Given the description of an element on the screen output the (x, y) to click on. 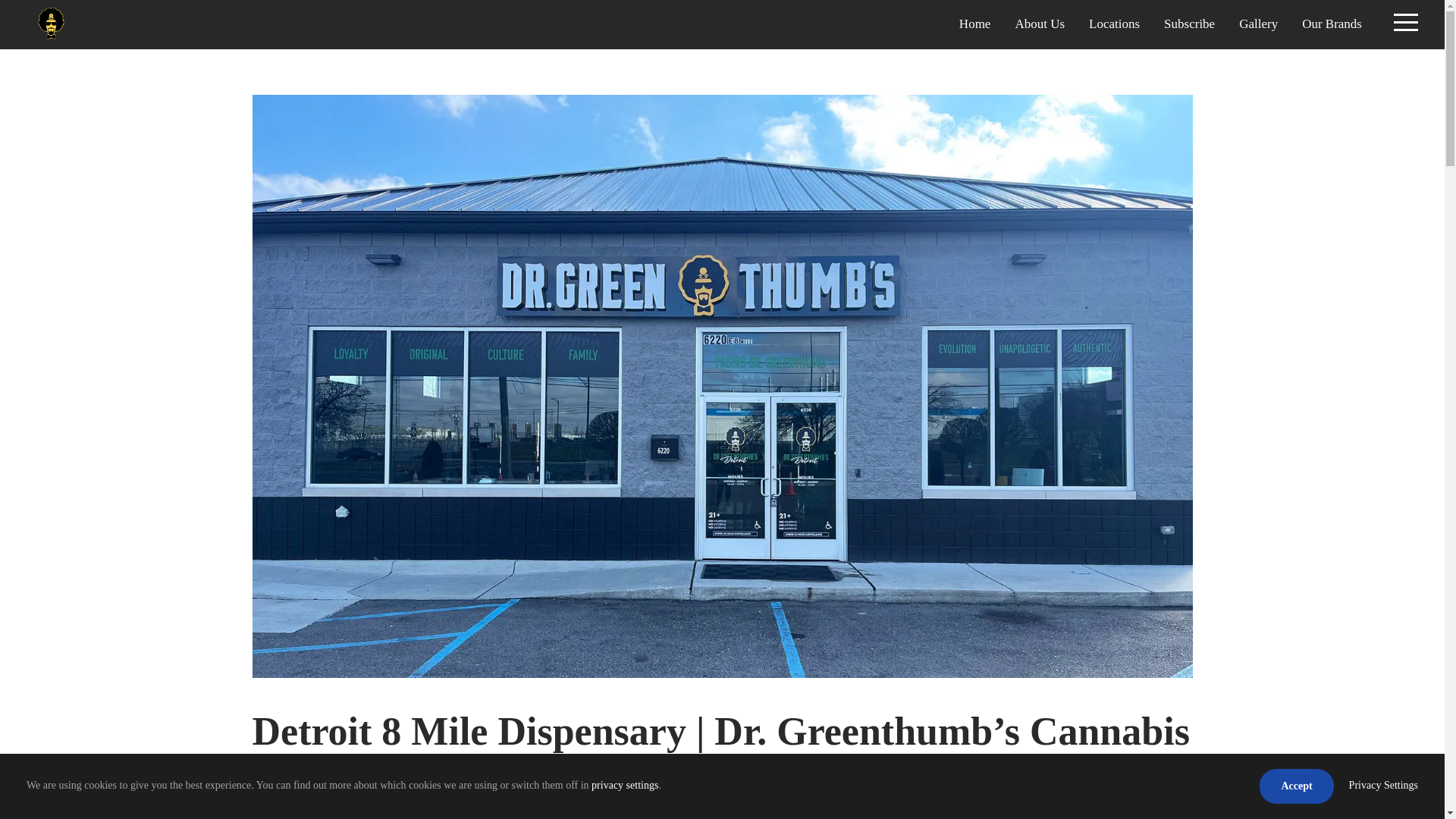
Accept (1296, 786)
Privacy Settings (1383, 785)
Our Brands (1331, 31)
Locations (1114, 31)
Gallery (1258, 31)
privacy settings (624, 785)
Subscribe (1188, 31)
About Us (1039, 31)
Home (975, 31)
